Given the description of an element on the screen output the (x, y) to click on. 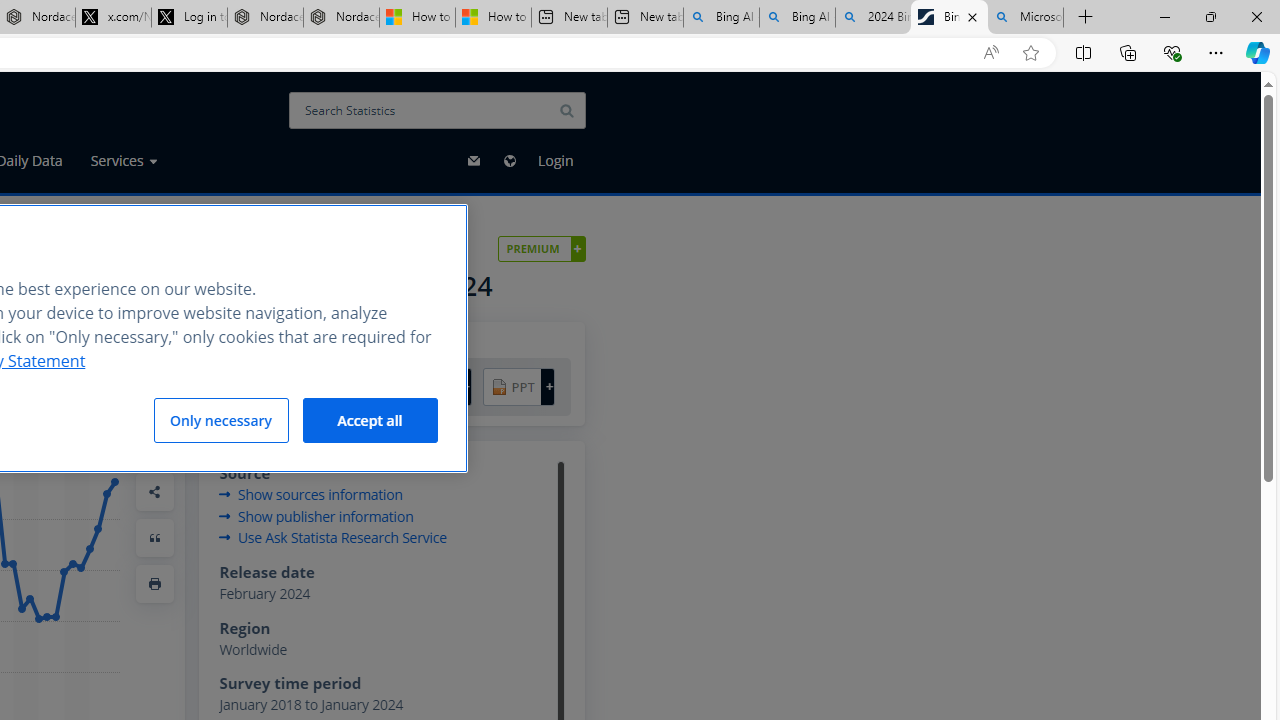
Share on Social Media (155, 491)
Search for content (566, 110)
x.com/NordaceOfficial (113, 17)
 Show sources information (310, 494)
Services (124, 161)
Accept all (369, 420)
Research Alerts (155, 399)
Microsoft Bing Timeline - Search (1025, 17)
How to Use a Monitor With Your Closed Laptop (493, 17)
